Given the description of an element on the screen output the (x, y) to click on. 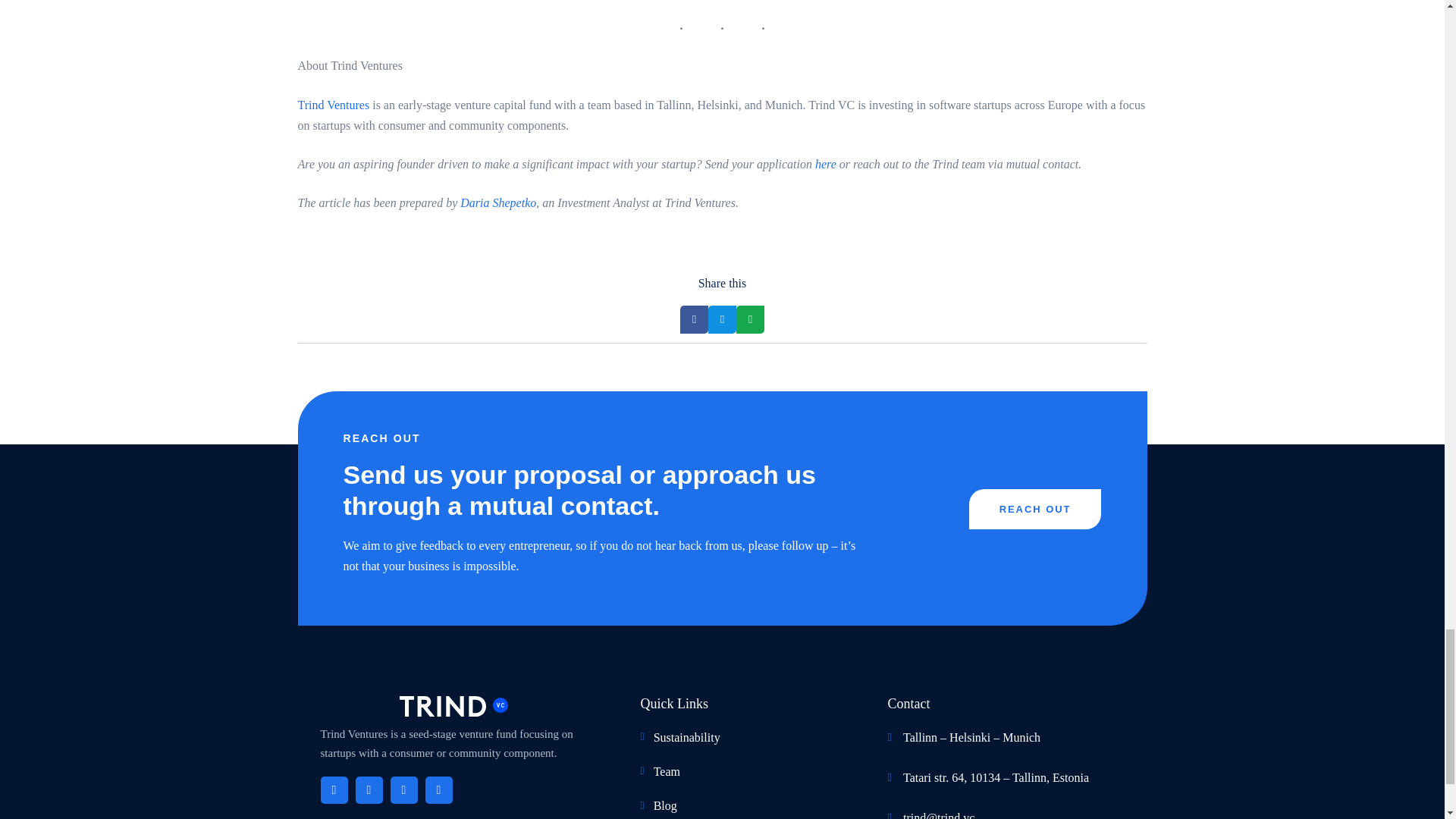
REACH OUT (1035, 508)
Trind Ventures (333, 104)
Team (740, 771)
Sustainability (740, 737)
Daria Shepetko (497, 202)
Blog (740, 805)
here (825, 164)
